Given the description of an element on the screen output the (x, y) to click on. 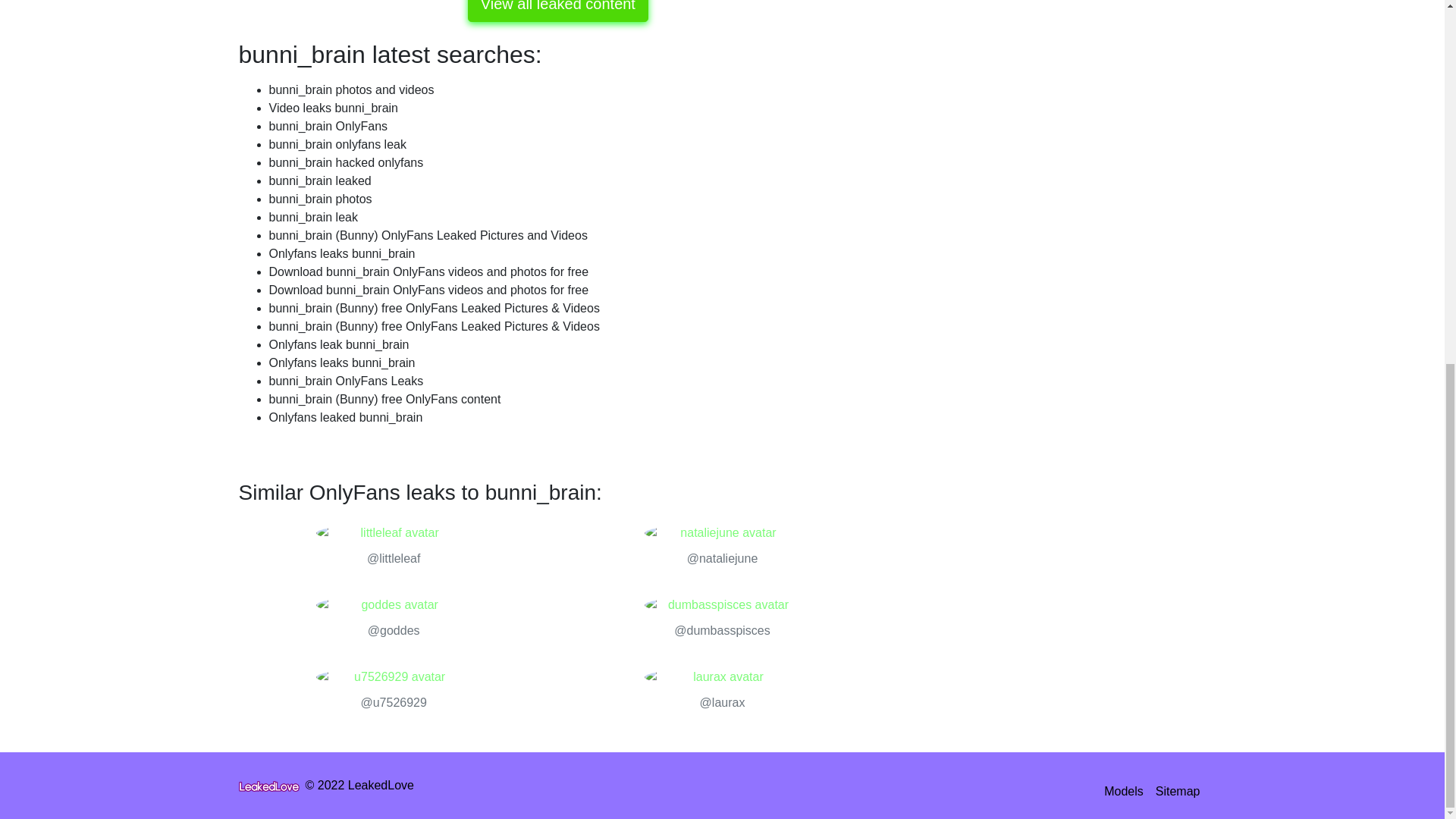
View all leaked content (557, 11)
Models (1123, 791)
Sitemap (1178, 791)
